Given the description of an element on the screen output the (x, y) to click on. 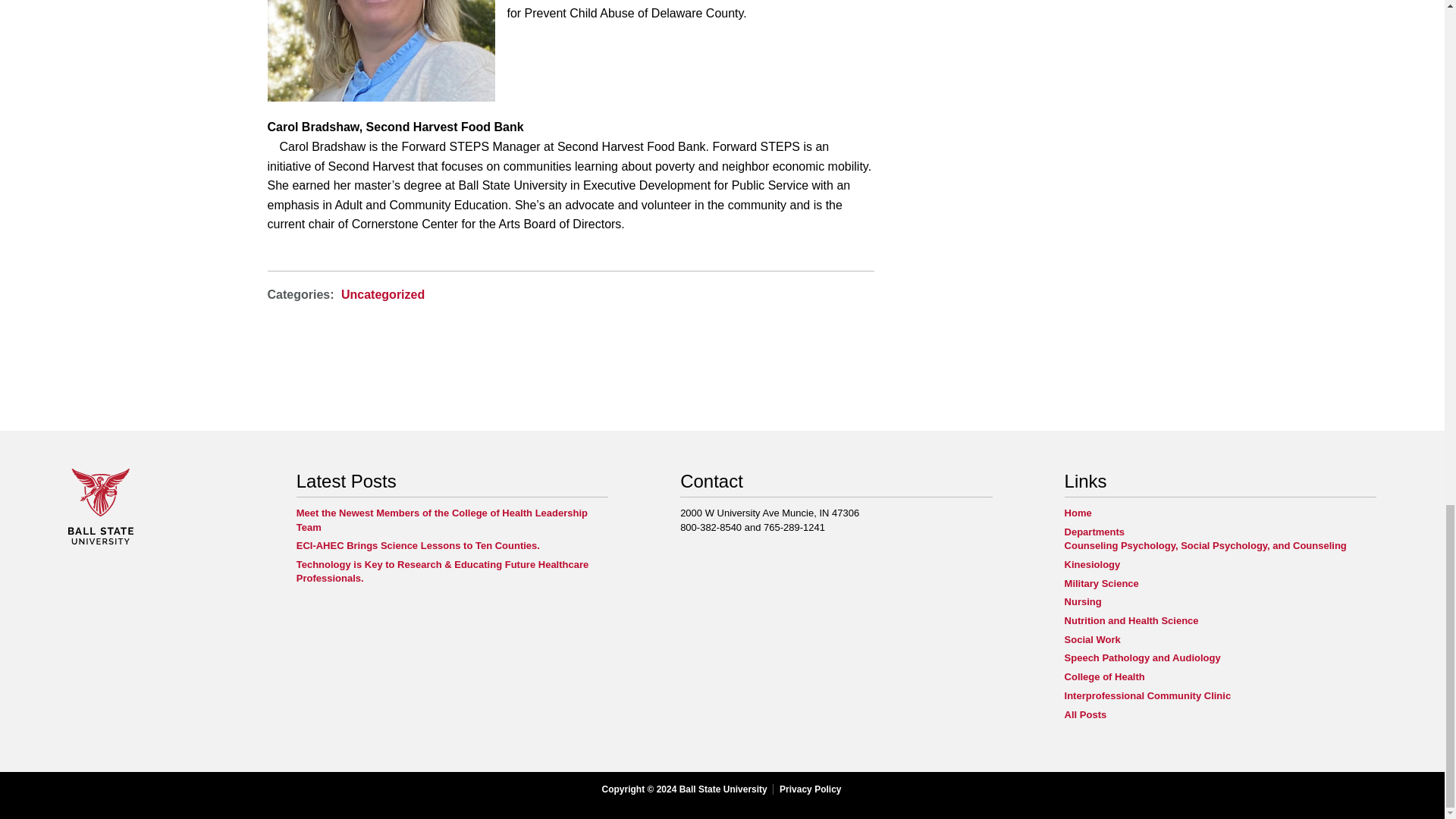
Learn more about Ball State University (100, 541)
Uncategorized (382, 294)
